Given the description of an element on the screen output the (x, y) to click on. 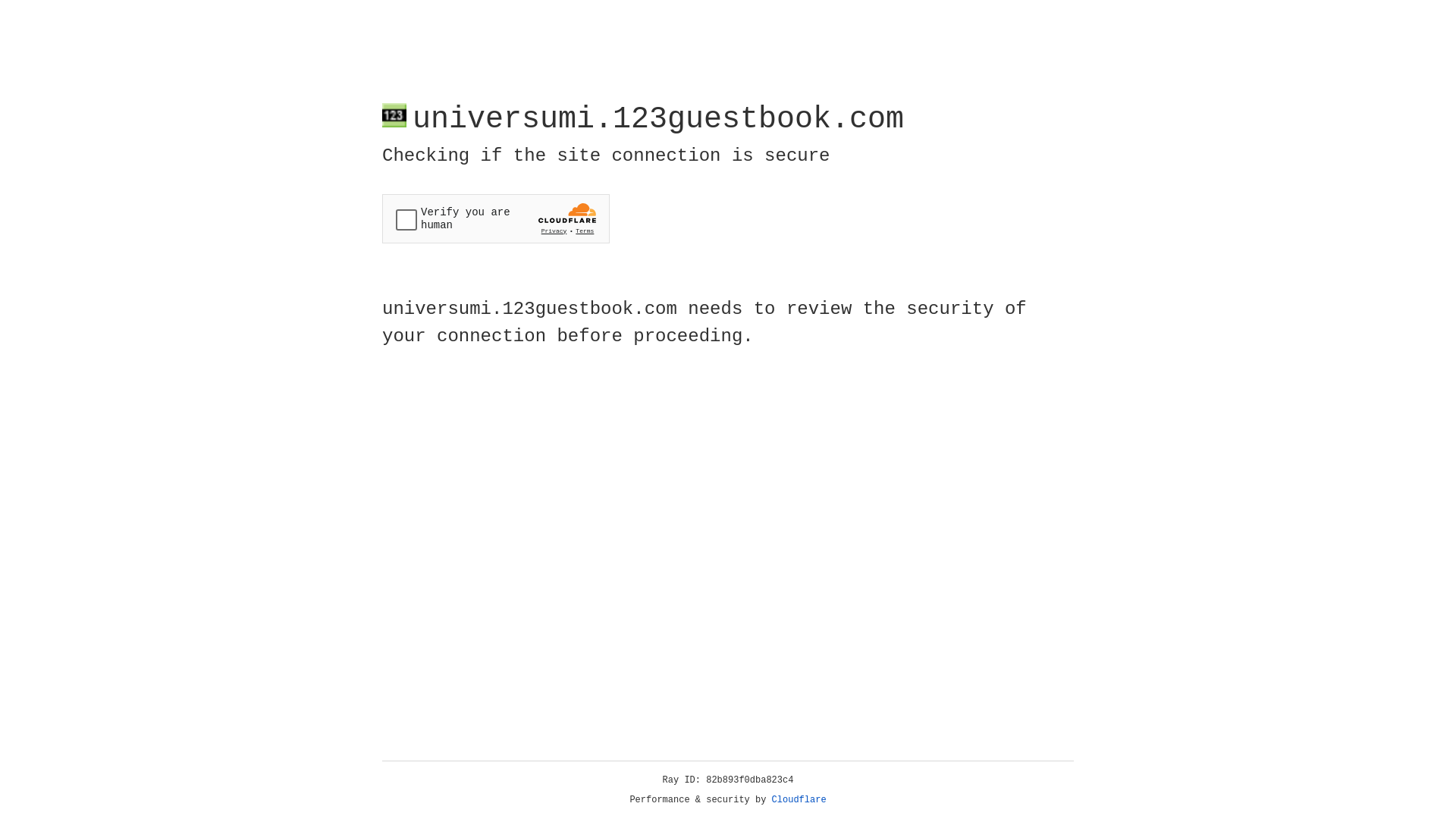
Widget containing a Cloudflare security challenge Element type: hover (495, 218)
Cloudflare Element type: text (798, 799)
